Given the description of an element on the screen output the (x, y) to click on. 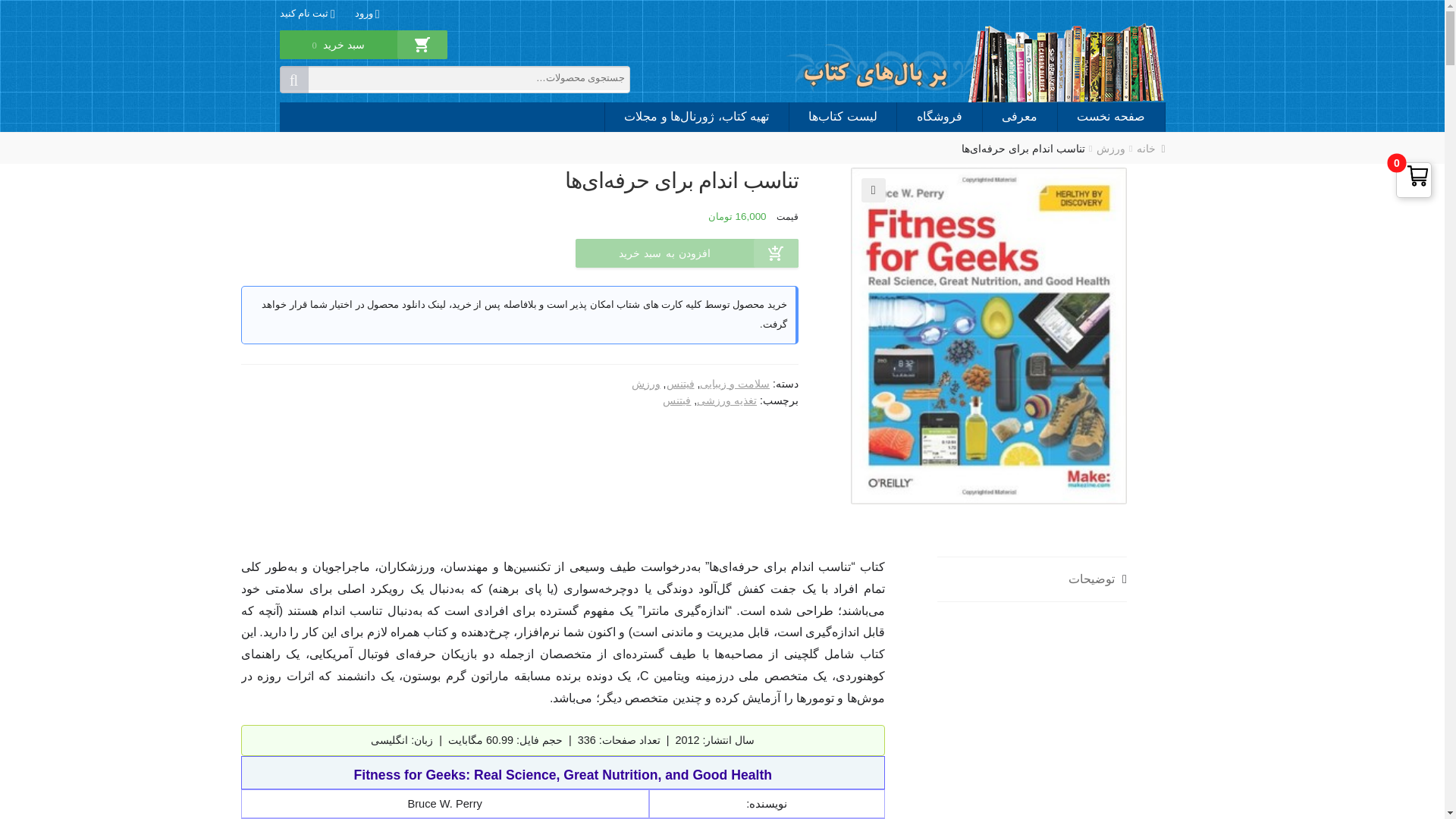
View your shopping cart (339, 54)
